Given the description of an element on the screen output the (x, y) to click on. 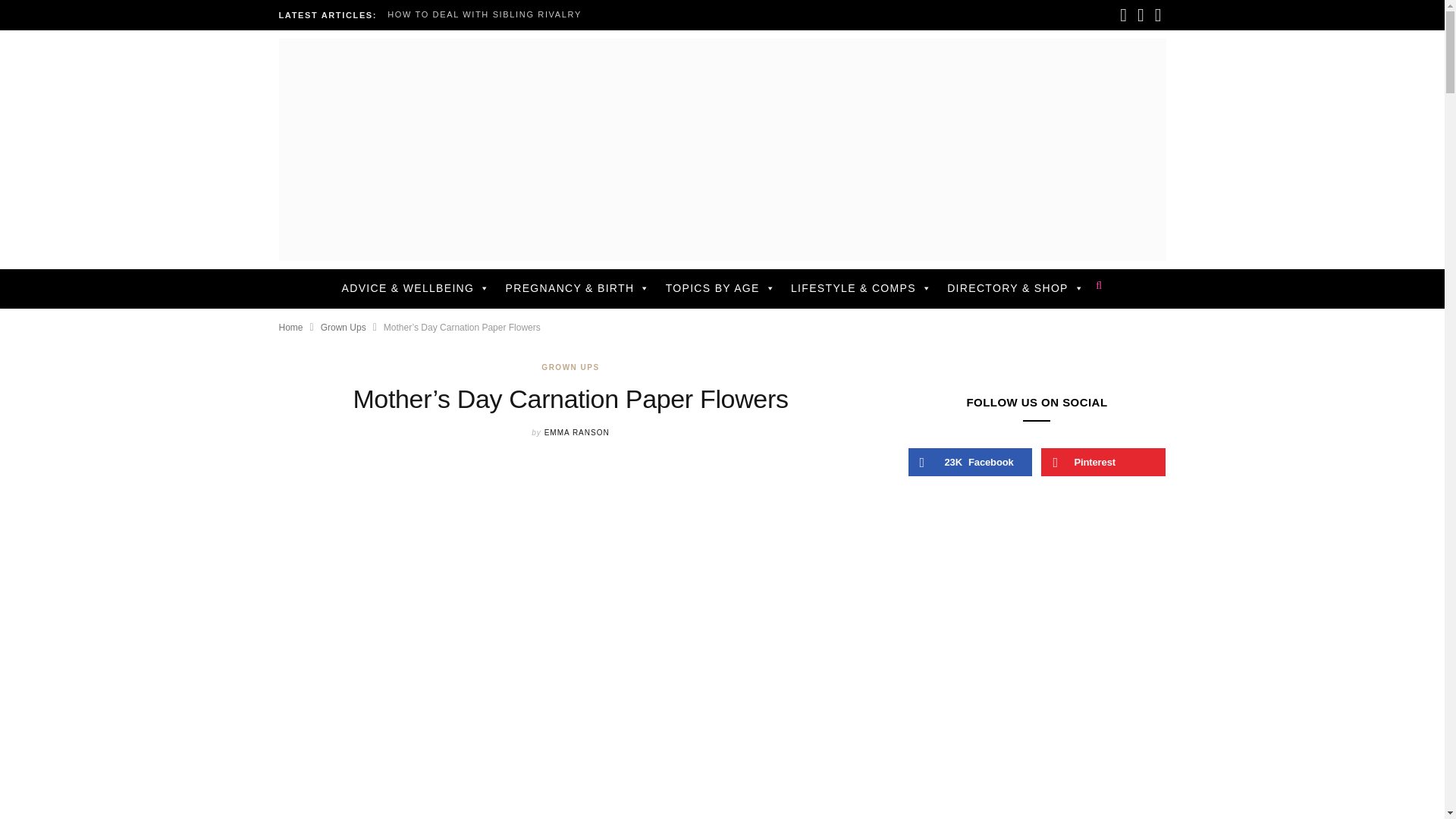
How to Deal with Sibling Rivalry (488, 14)
HOW TO DEAL WITH SIBLING RIVALRY (488, 14)
TOPICS BY AGE (720, 287)
Posts by Emma Ranson (577, 432)
